Given the description of an element on the screen output the (x, y) to click on. 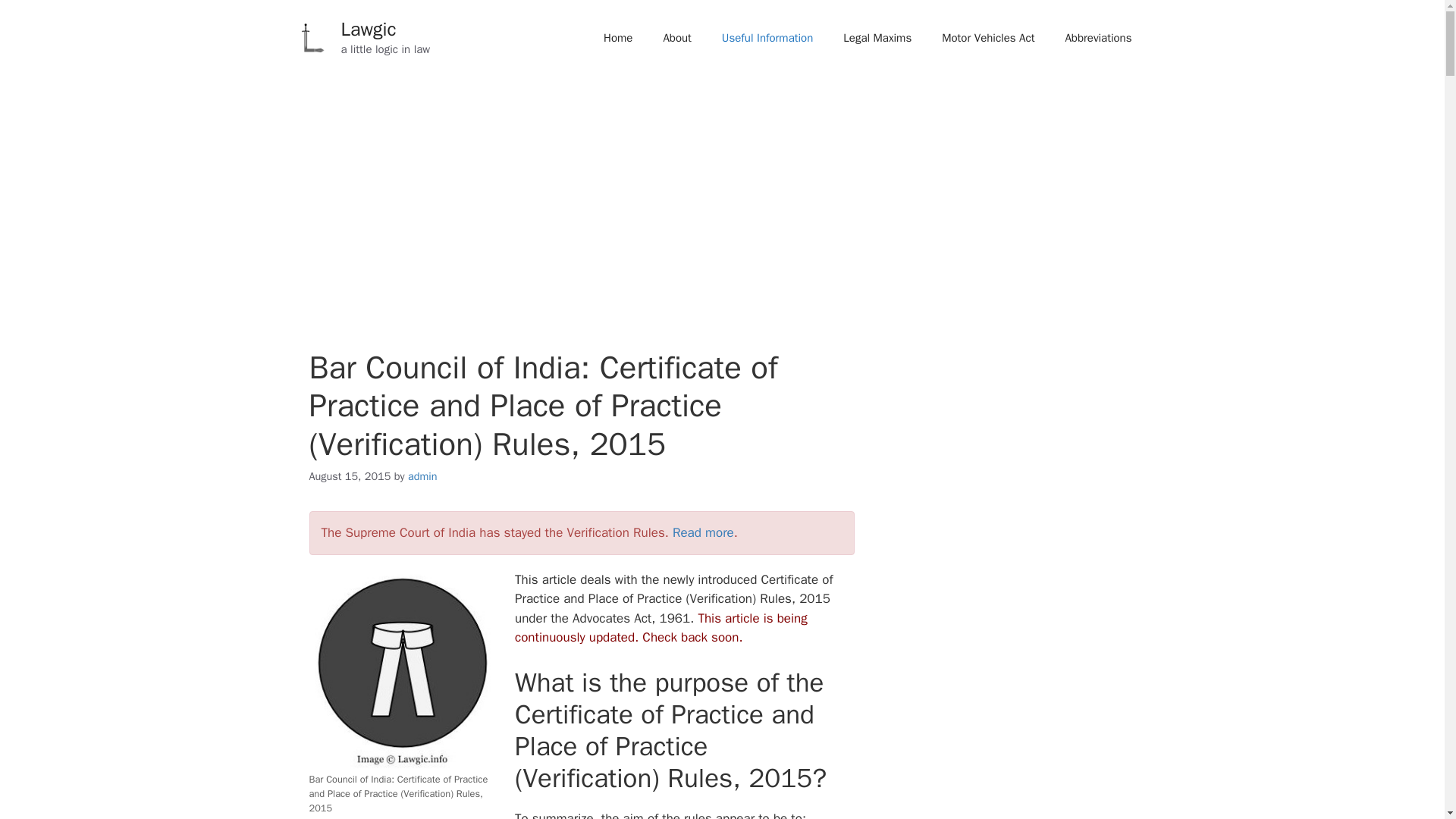
View all posts by admin (422, 476)
Lawgic (368, 28)
Motor Vehicles Act (987, 37)
Legal Maxims (877, 37)
Home (617, 37)
Useful Information (767, 37)
admin (422, 476)
Read more (702, 532)
About (676, 37)
